Given the description of an element on the screen output the (x, y) to click on. 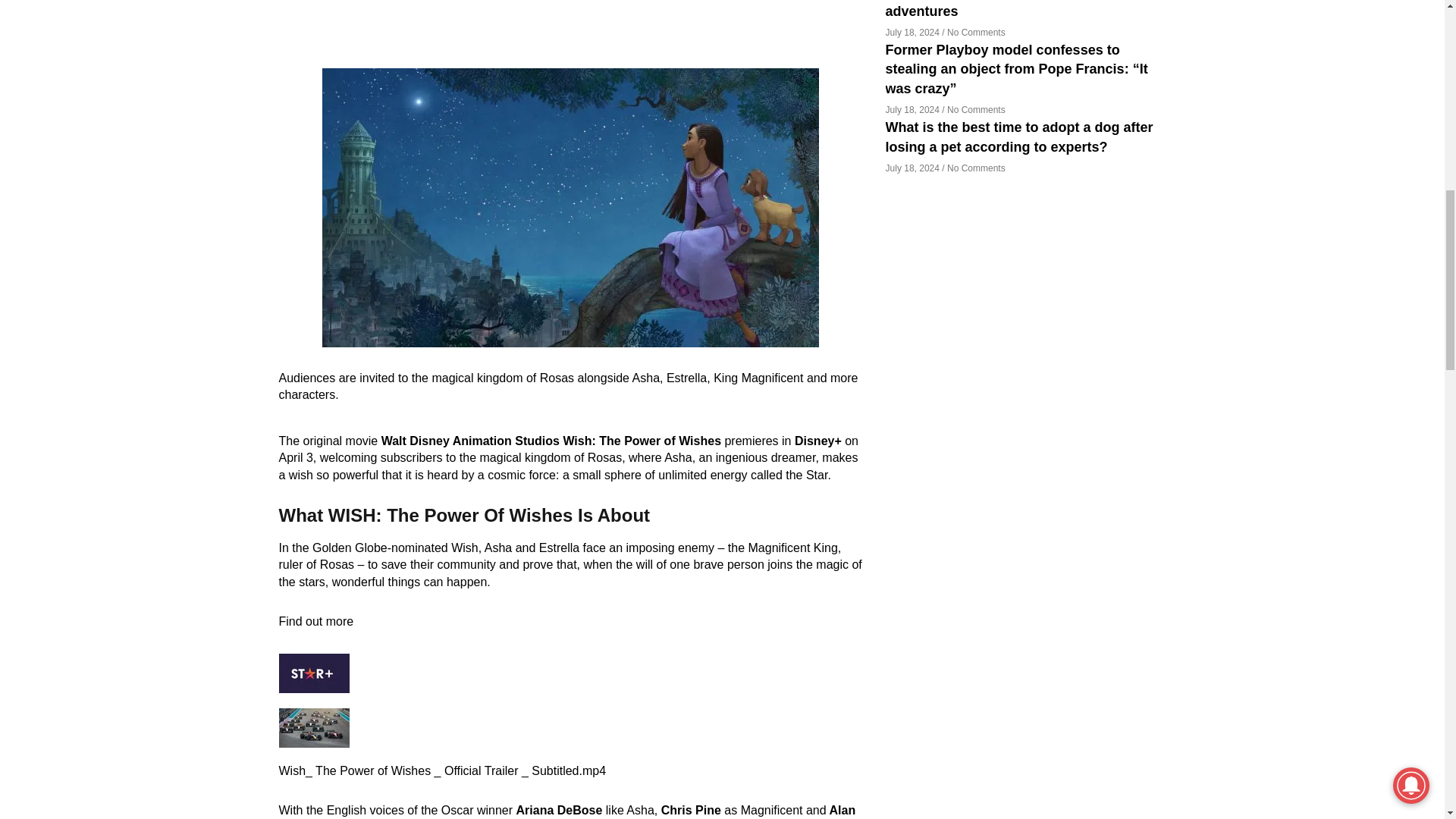
Advertisement (571, 31)
